Given the description of an element on the screen output the (x, y) to click on. 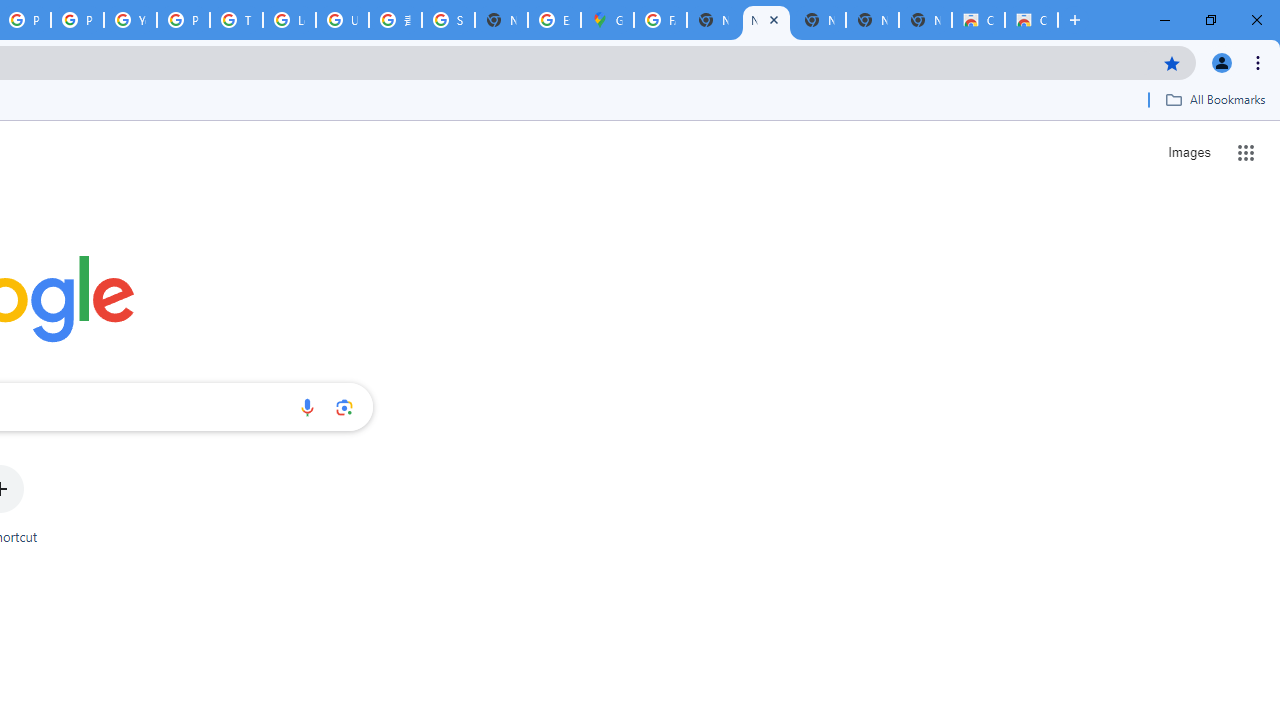
New Tab (501, 20)
Google Maps (607, 20)
Classic Blue - Chrome Web Store (978, 20)
All Bookmarks (1215, 99)
Tips & tricks for Chrome - Google Chrome Help (235, 20)
Sign in - Google Accounts (448, 20)
New Tab (925, 20)
